Given the description of an element on the screen output the (x, y) to click on. 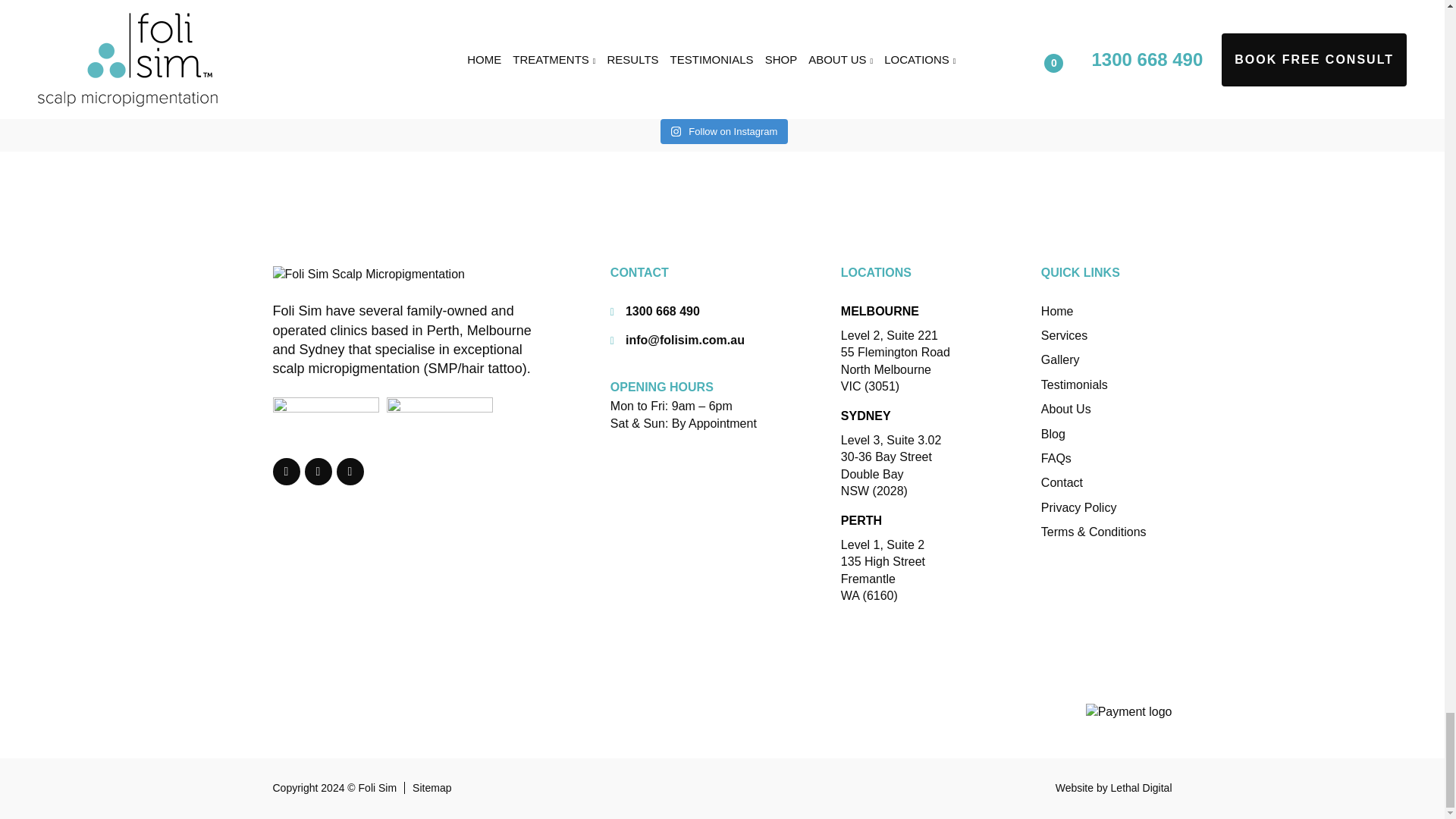
Instagram (317, 471)
YouTube (350, 471)
Facebook (286, 471)
